Given the description of an element on the screen output the (x, y) to click on. 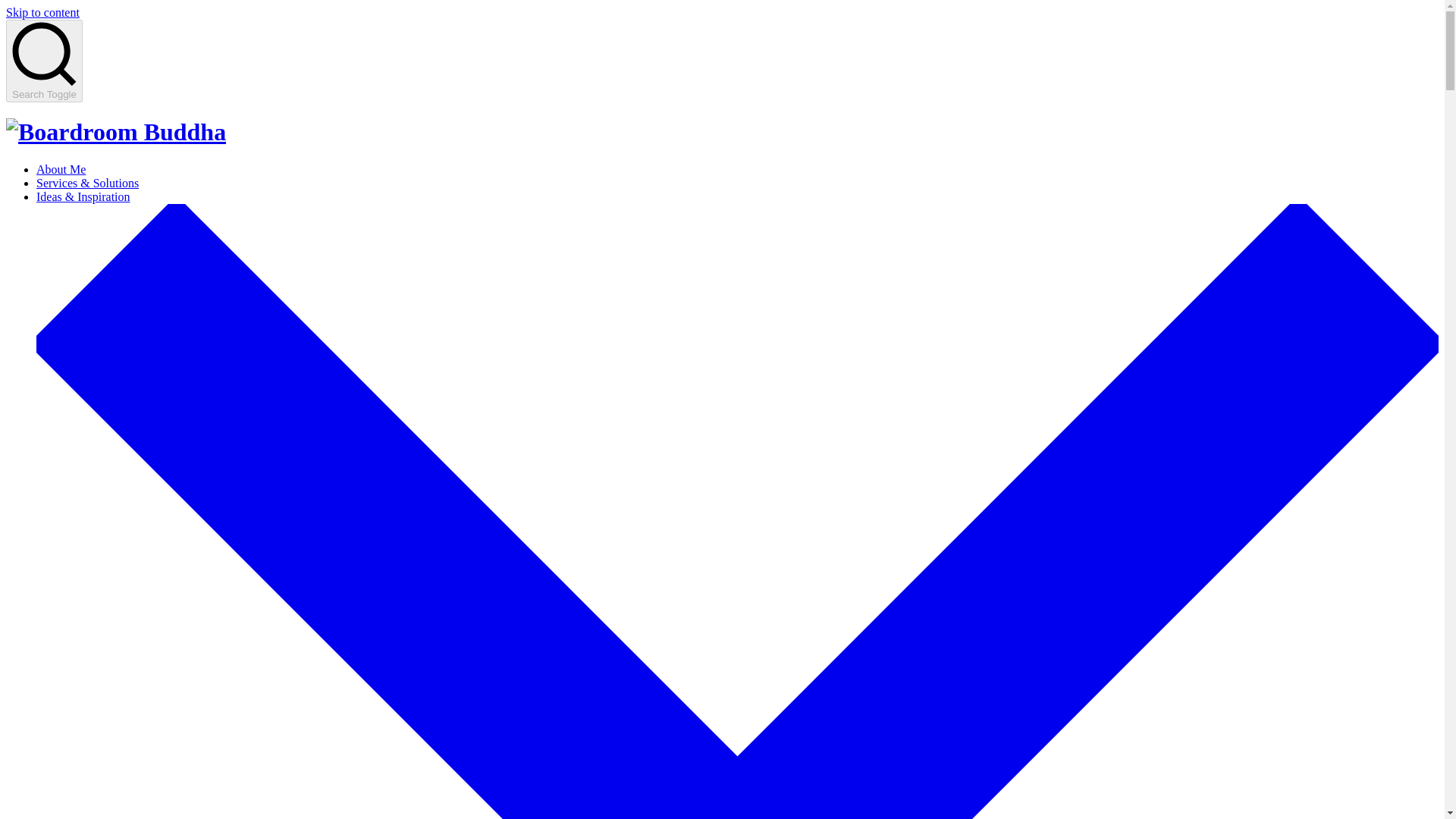
Skip to content (42, 11)
Search Toggle (43, 60)
About Me (60, 169)
